Given the description of an element on the screen output the (x, y) to click on. 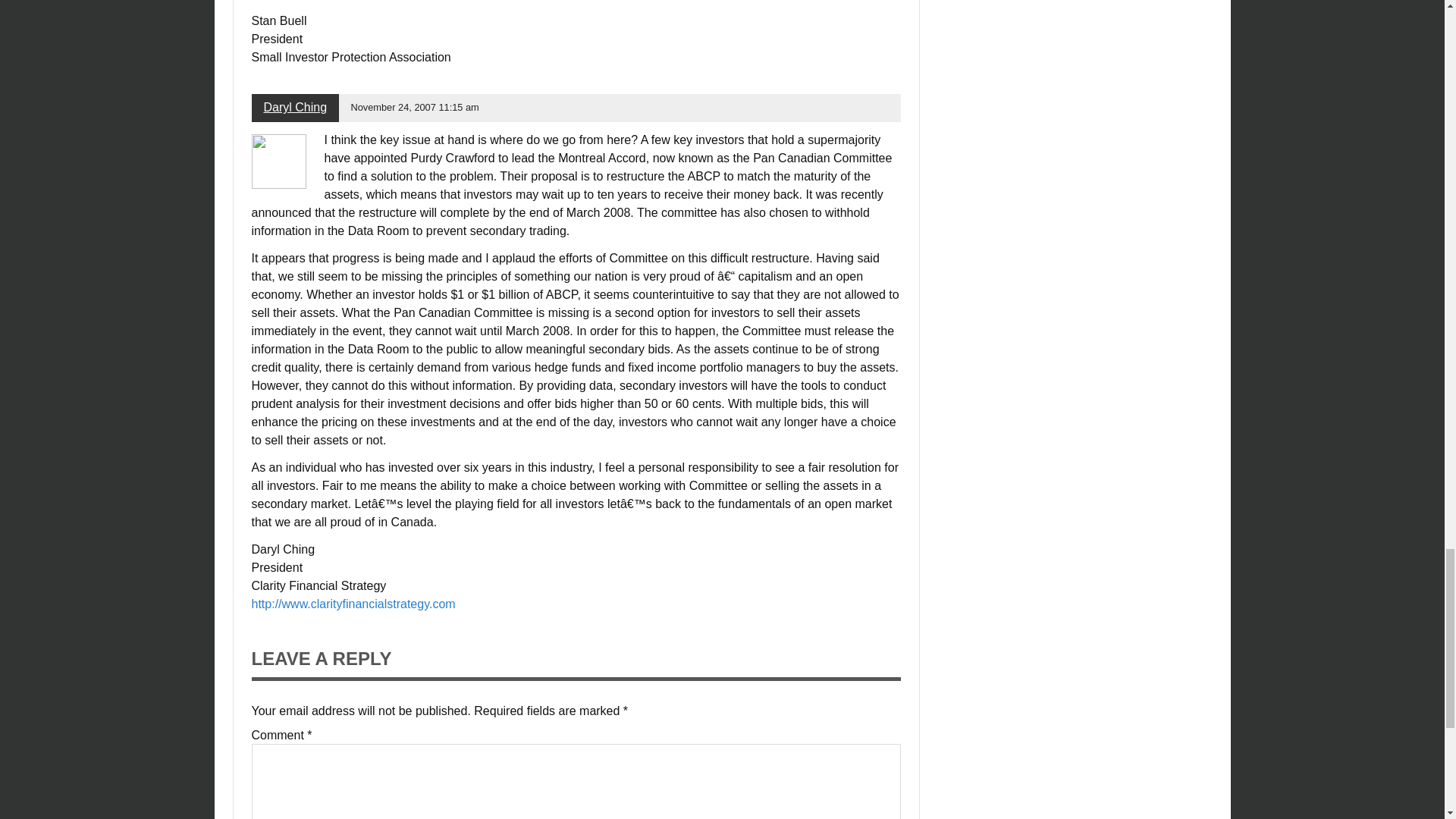
Daryl Ching (295, 106)
